Given the description of an element on the screen output the (x, y) to click on. 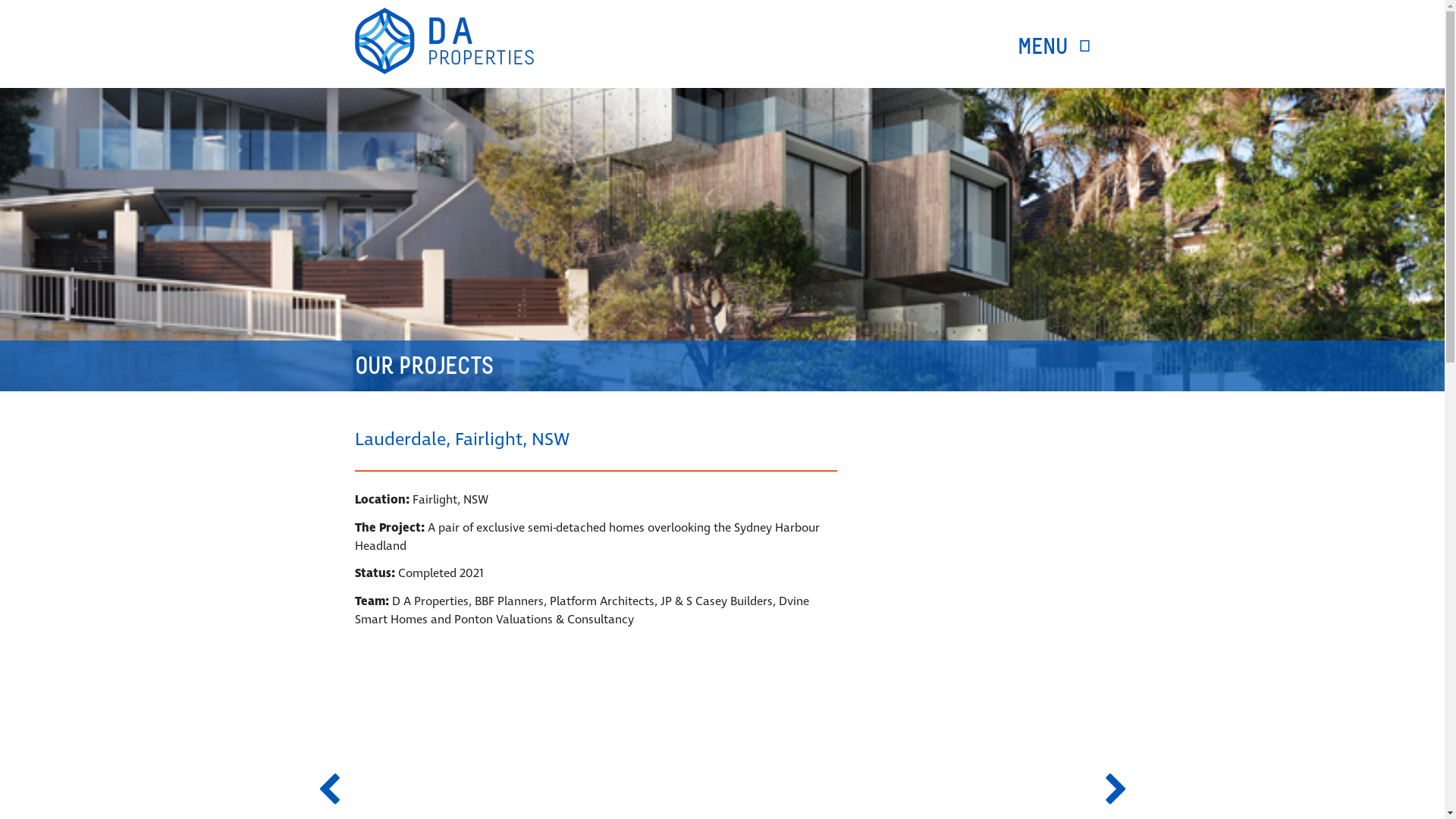
David Allen Properties Element type: hover (443, 40)
